Given the description of an element on the screen output the (x, y) to click on. 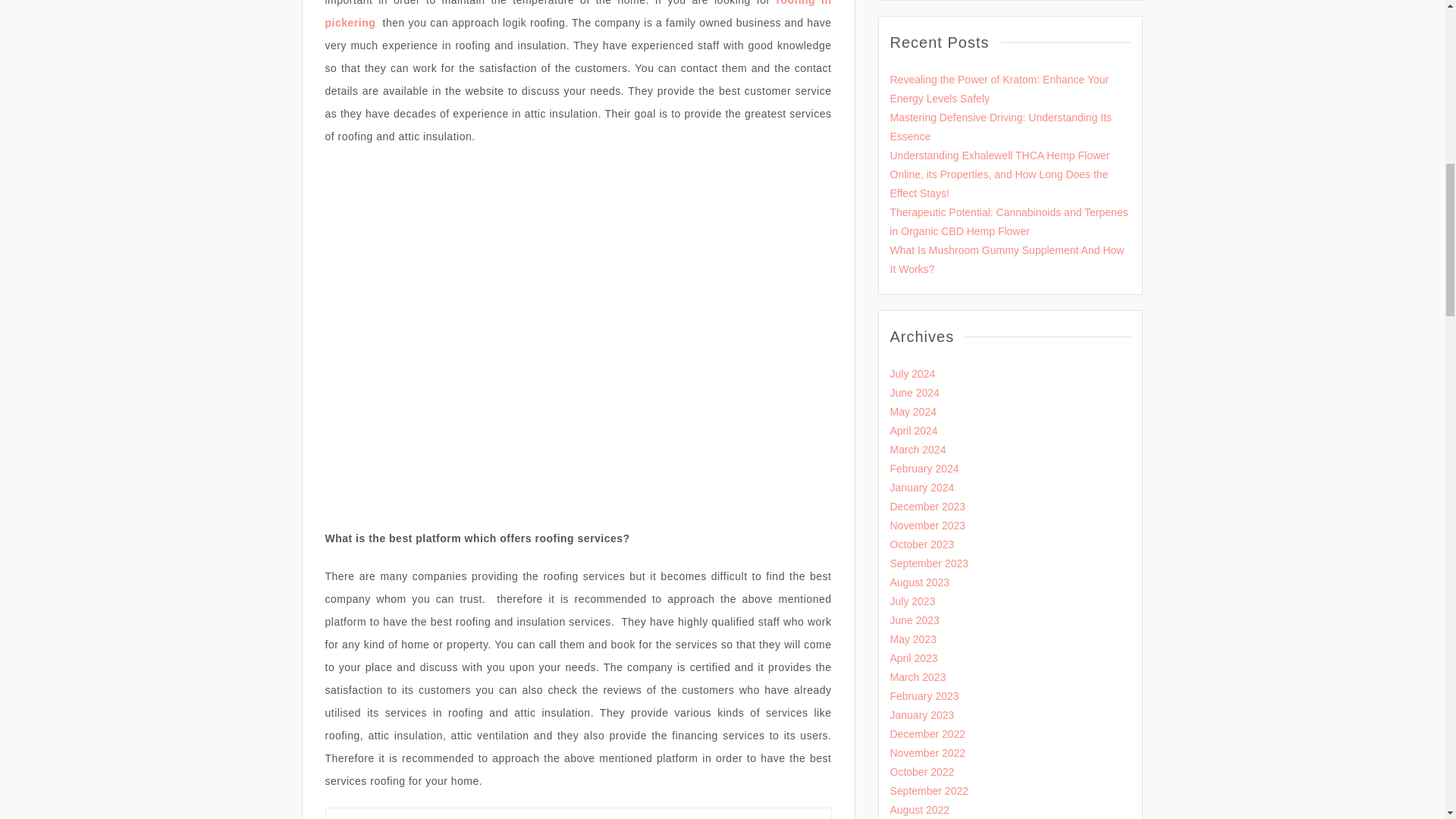
roofing in pickering (577, 14)
November 2023 (927, 525)
February 2024 (924, 468)
July 2024 (912, 373)
August 2023 (919, 582)
April 2024 (913, 430)
What Is Mushroom Gummy Supplement And How It Works? (1006, 259)
September 2023 (929, 563)
July 2023 (912, 601)
Mastering Defensive Driving: Understanding Its Essence (1000, 126)
June 2024 (914, 392)
March 2024 (917, 449)
